Given the description of an element on the screen output the (x, y) to click on. 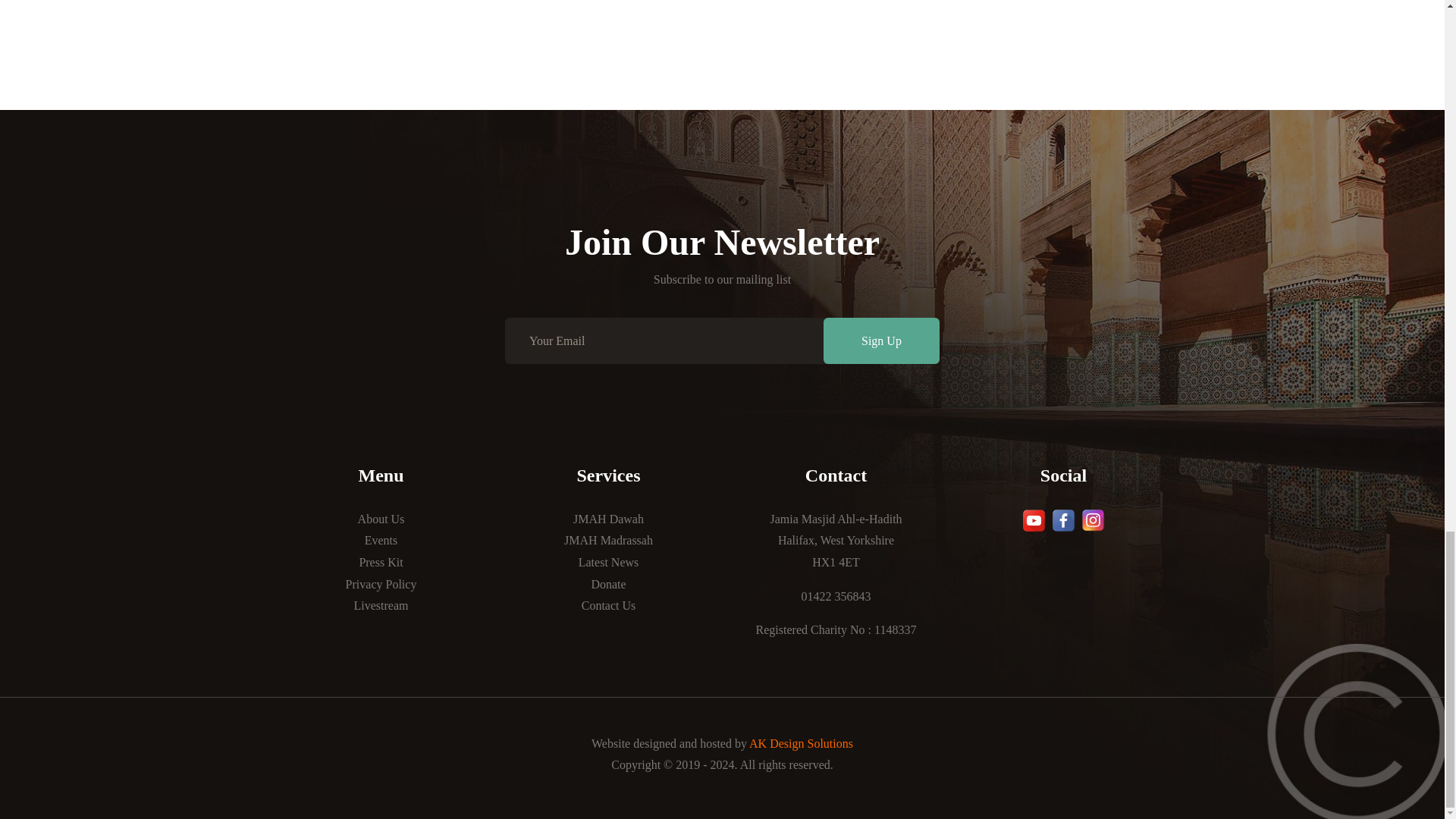
Sign Up (881, 340)
Donate (608, 584)
JMAH Madrassah (608, 540)
Press Kit (380, 562)
Privacy Policy (381, 584)
About Us (381, 518)
Events (381, 540)
Latest News (608, 562)
Livestream (381, 604)
JMAH Dawah (608, 518)
